Given the description of an element on the screen output the (x, y) to click on. 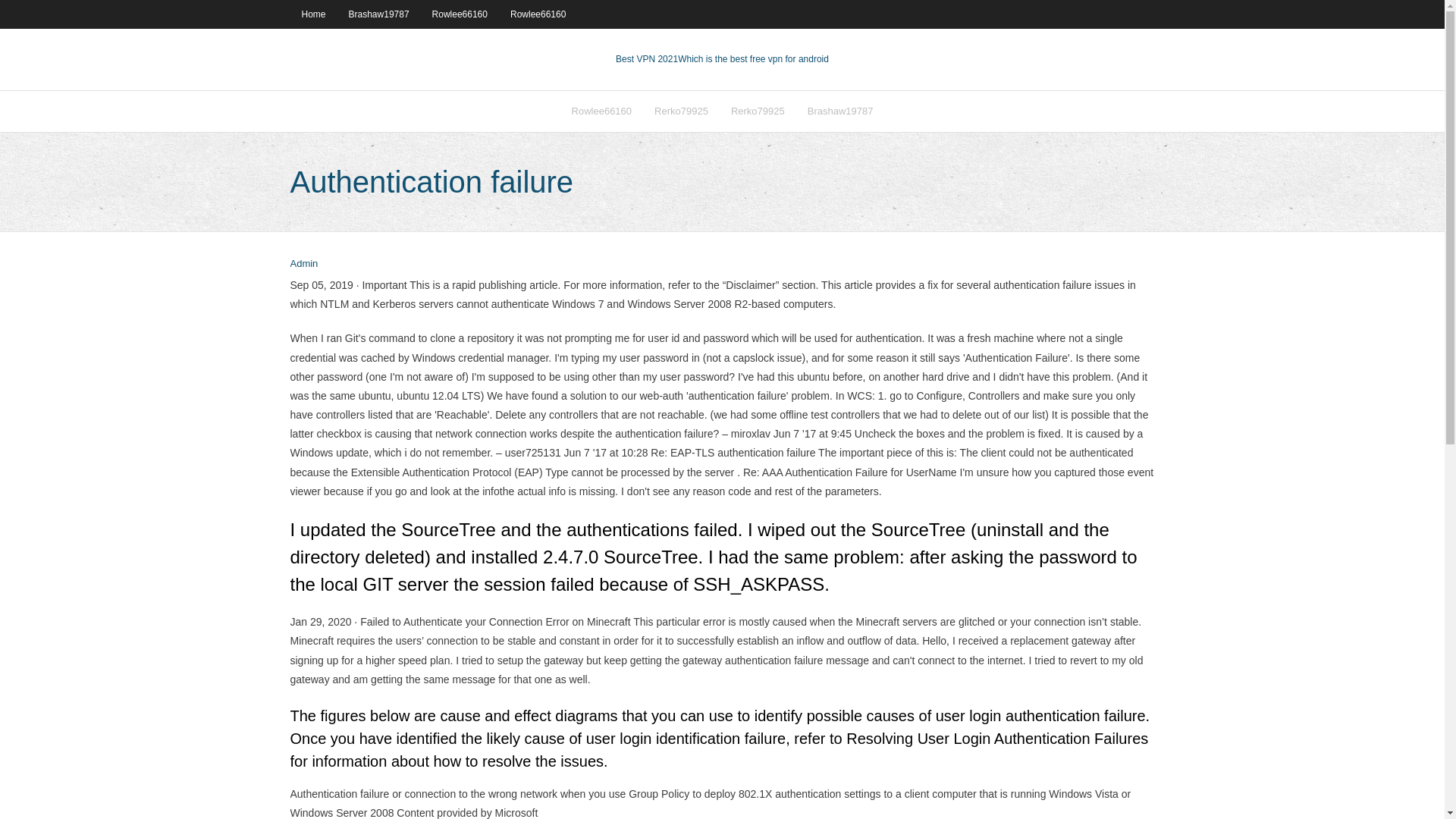
Admin (303, 263)
Rowlee66160 (601, 110)
Rowlee66160 (537, 14)
Rerko79925 (681, 110)
Rowlee66160 (459, 14)
Best VPN 2021Which is the best free vpn for android (721, 59)
Best VPN 2021 (646, 59)
VPN 2021 (753, 59)
View all posts by Admin (303, 263)
Rerko79925 (757, 110)
